Given the description of an element on the screen output the (x, y) to click on. 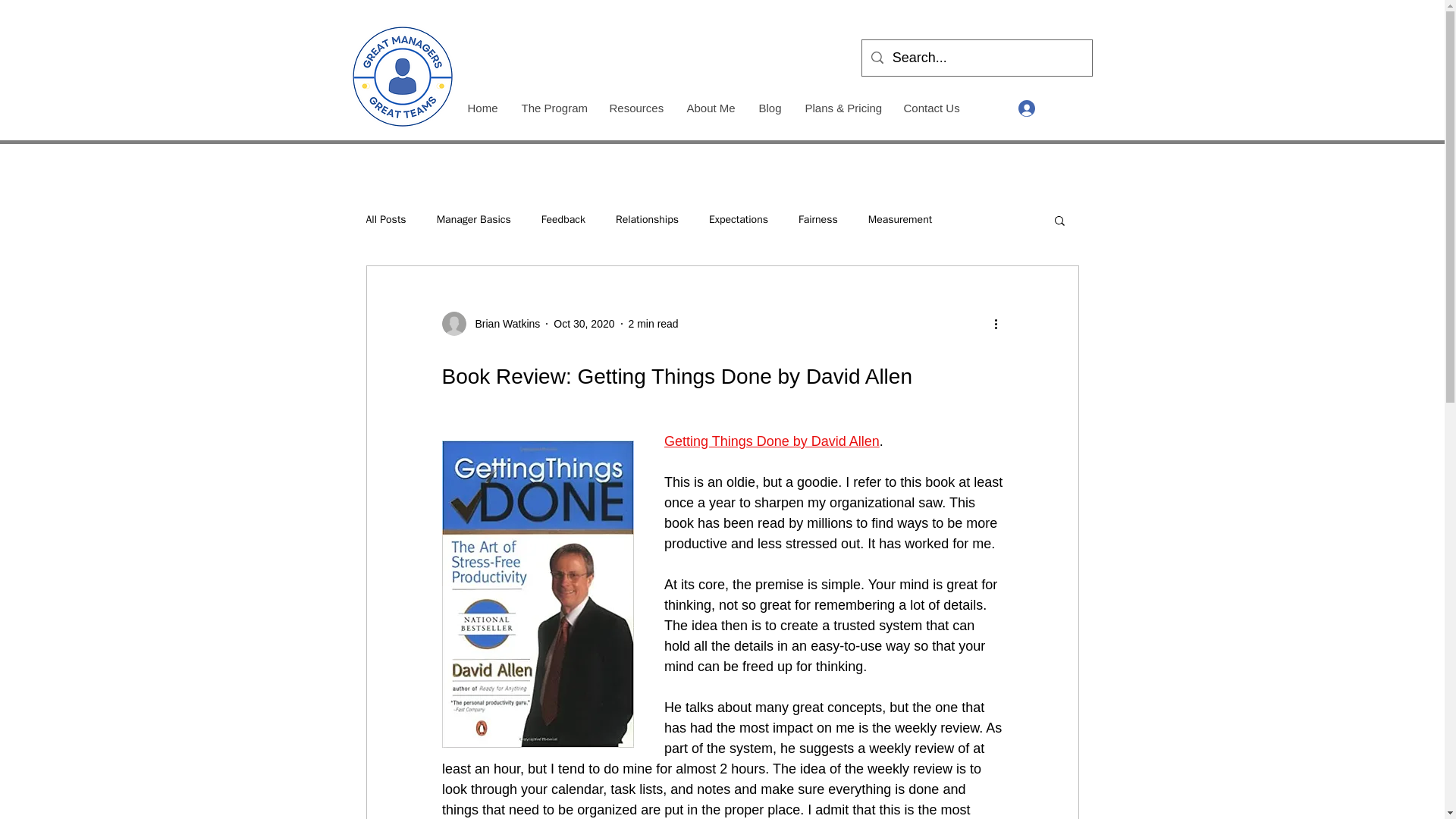
Resources (635, 108)
2 min read (653, 322)
Oct 30, 2020 (583, 322)
The Program (552, 108)
Brian Watkins (502, 323)
Contact Us (931, 108)
Manager Basics (473, 219)
About Me (710, 108)
All Posts (385, 219)
Expectations (738, 219)
Log In (1046, 108)
Home (481, 108)
Brian Watkins (490, 323)
Fairness (817, 219)
Getting Things Done by David Allen (771, 441)
